Given the description of an element on the screen output the (x, y) to click on. 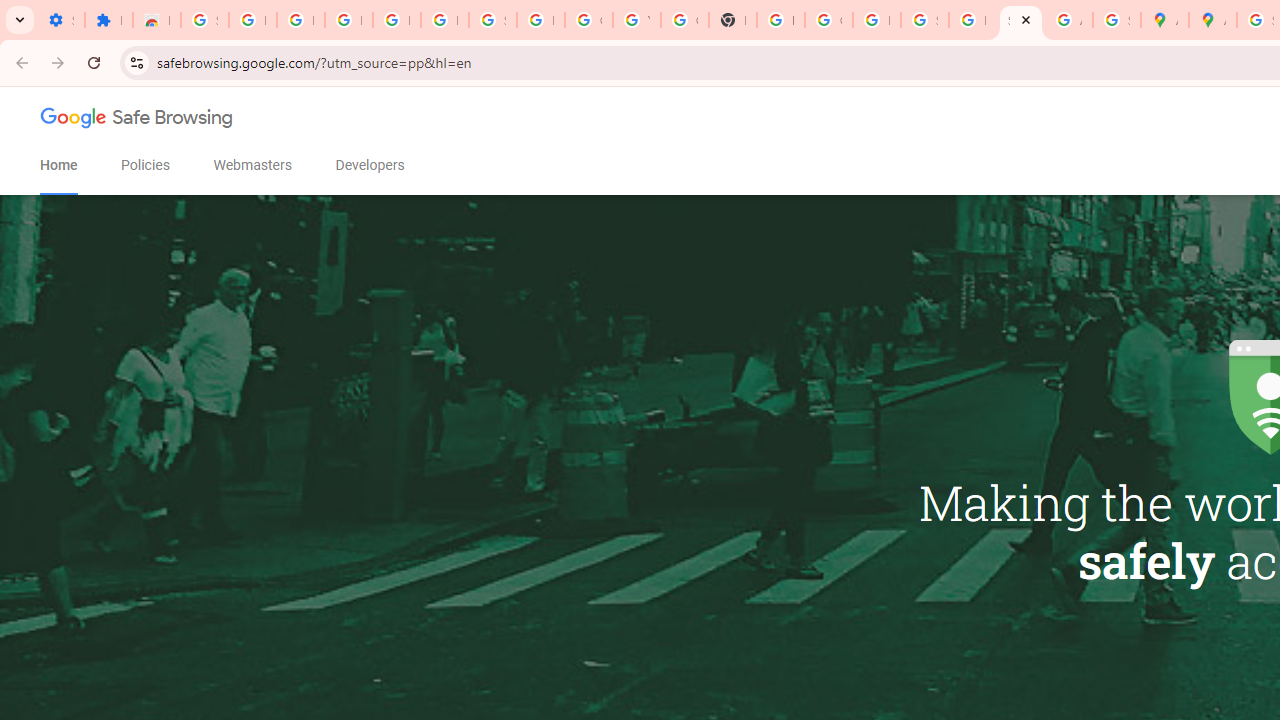
Webmasters (251, 165)
Reviews: Helix Fruit Jump Arcade Game (156, 20)
